Given the description of an element on the screen output the (x, y) to click on. 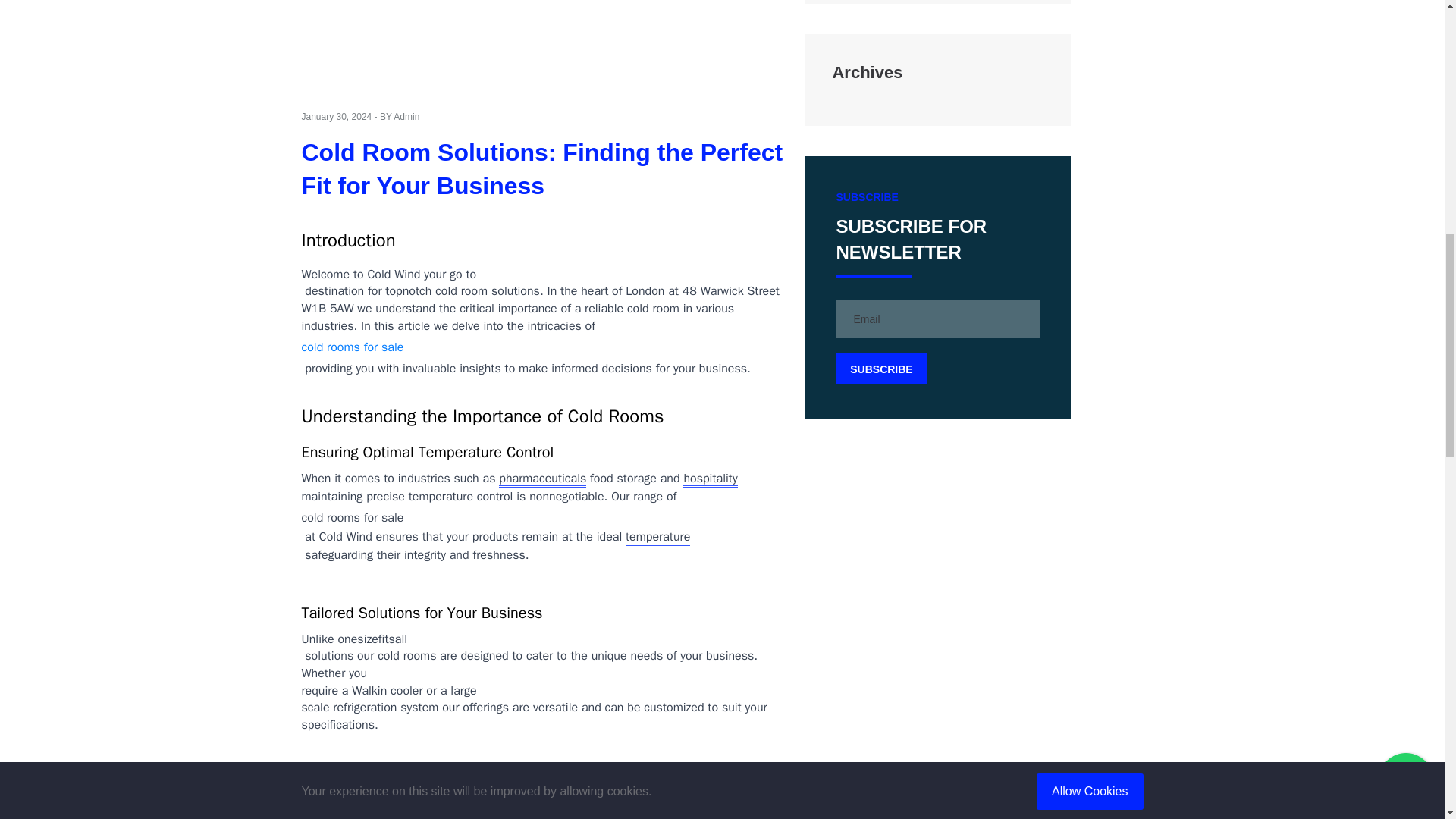
cold rooms for sale (352, 347)
Subscribe (880, 368)
Subscribe (880, 368)
